Given the description of an element on the screen output the (x, y) to click on. 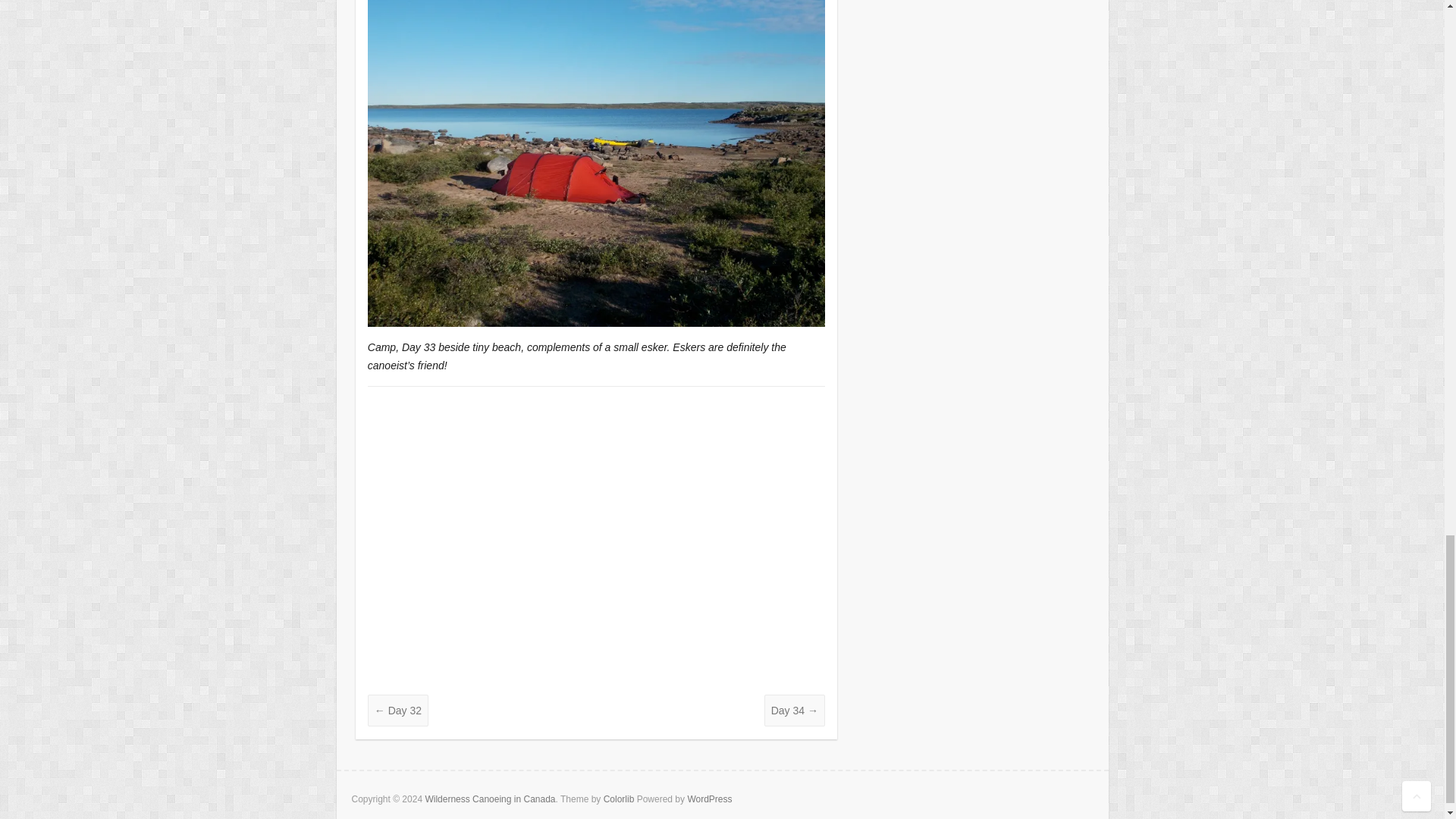
Colorlib (619, 798)
Colorlib (619, 798)
WordPress (709, 798)
WordPress (709, 798)
Wilderness Canoeing in Canada (489, 798)
Wilderness Canoeing in Canada (489, 798)
